Given the description of an element on the screen output the (x, y) to click on. 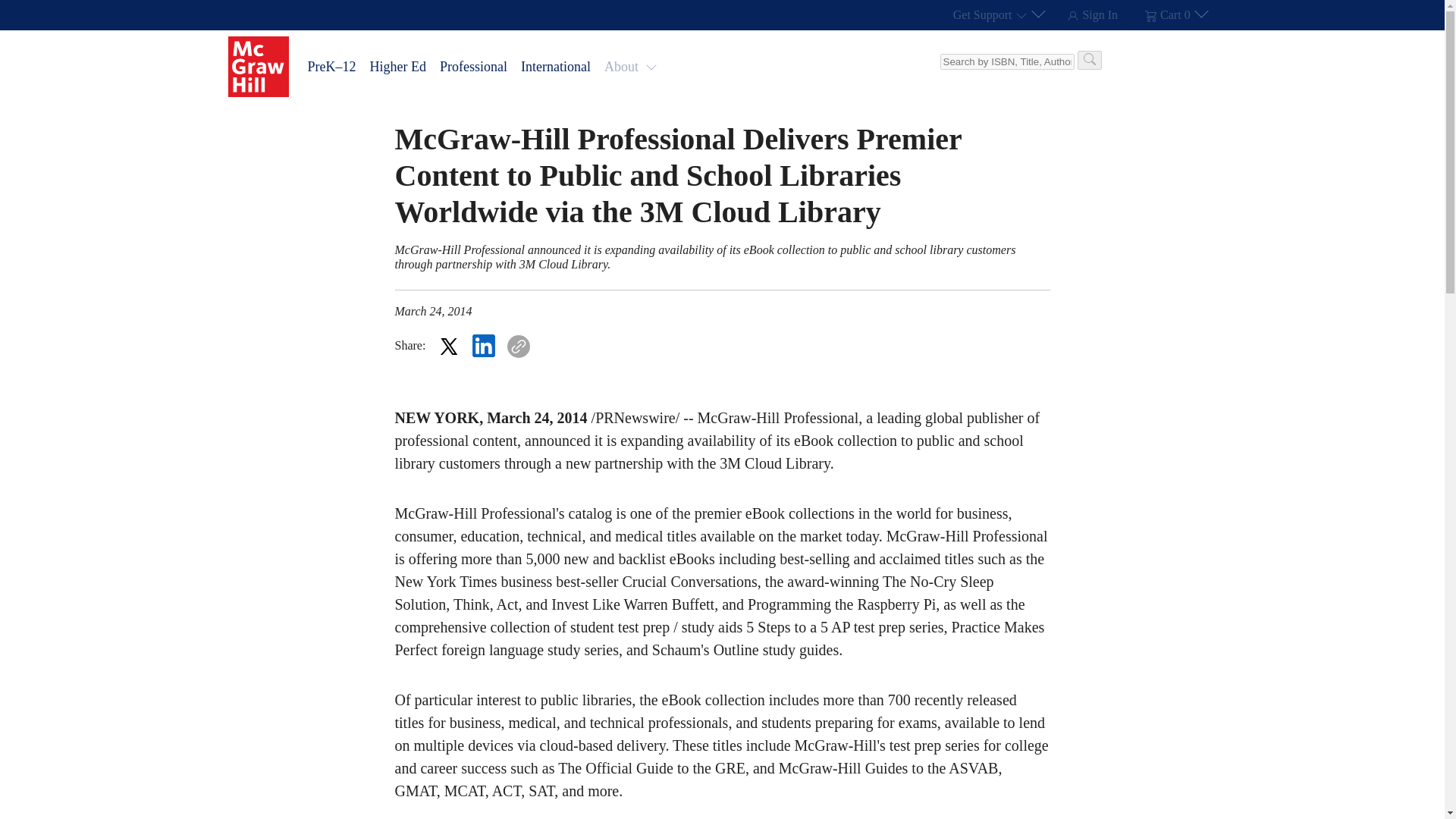
Sign In (1092, 15)
Get Support (998, 15)
